Given the description of an element on the screen output the (x, y) to click on. 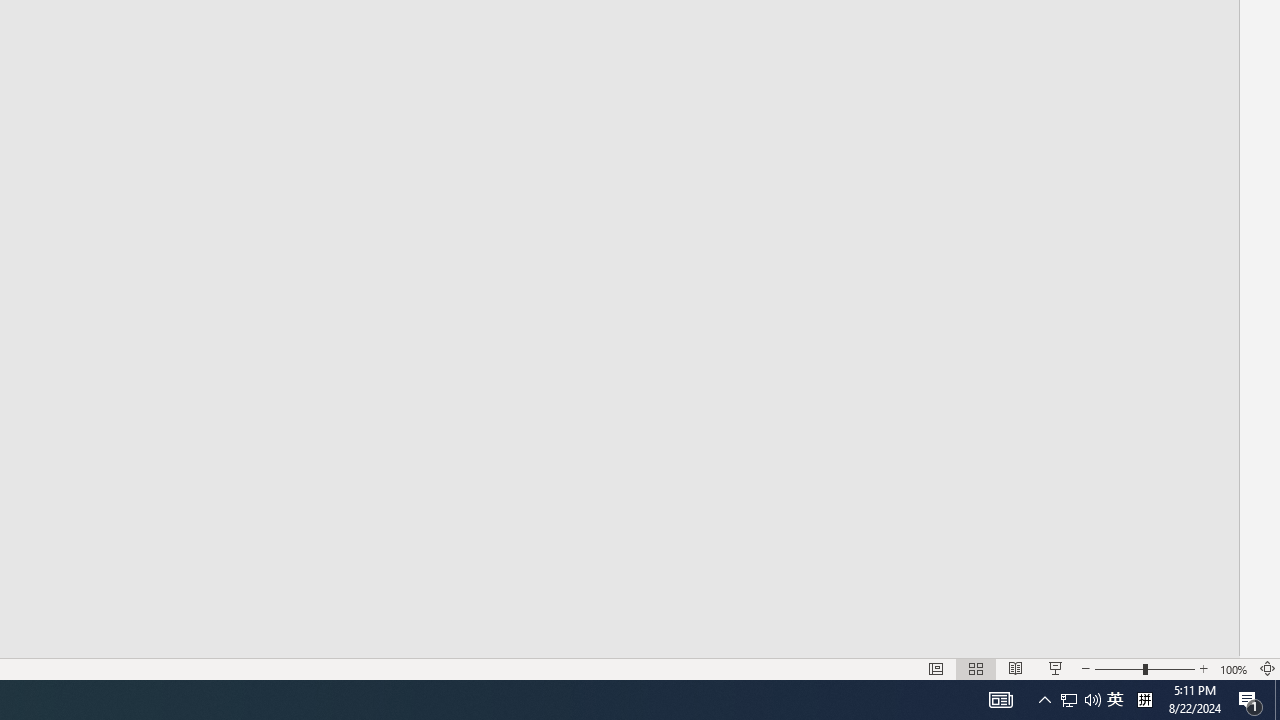
Zoom 100% (1234, 668)
